Given the description of an element on the screen output the (x, y) to click on. 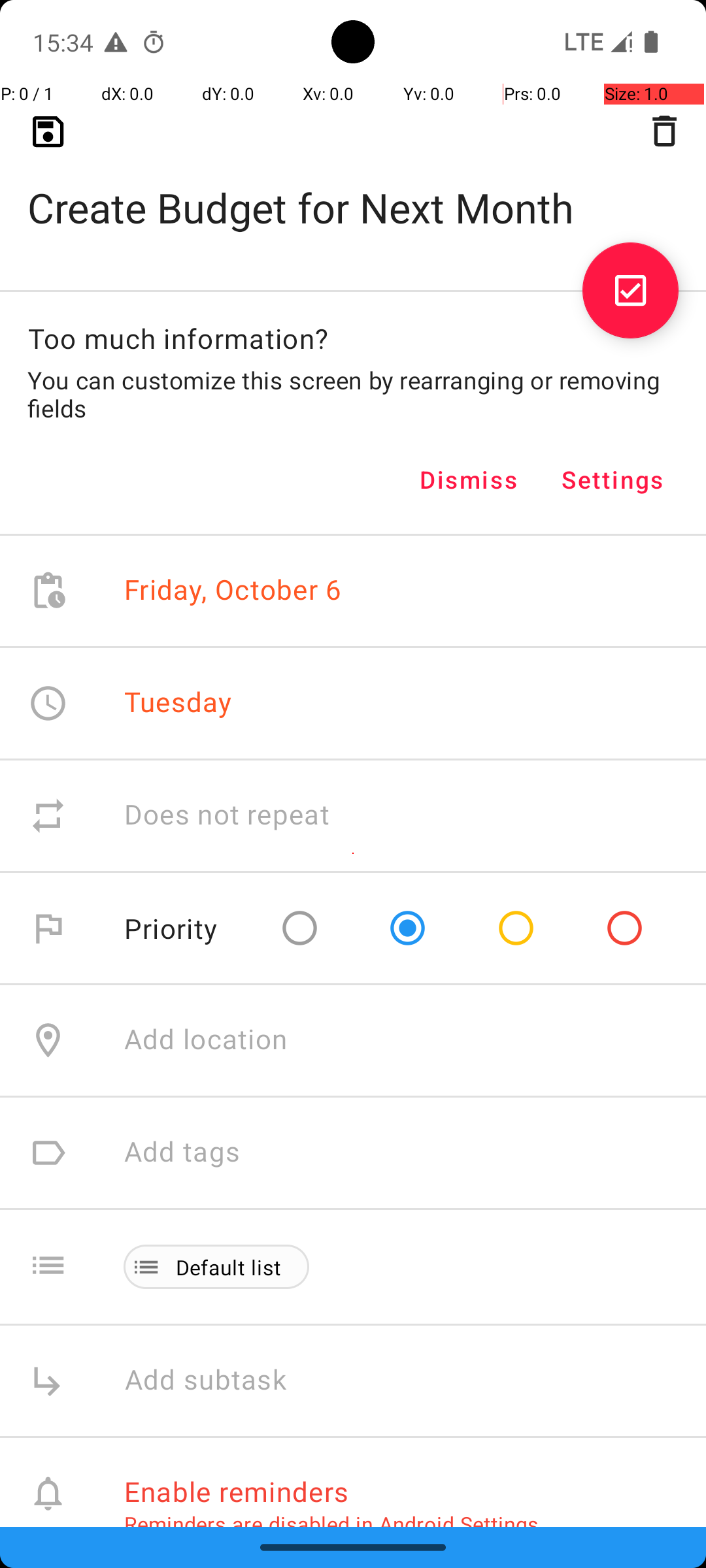
Create Budget for Next Month Element type: android.widget.EditText (353, 186)
Delete task Element type: android.widget.Button (664, 131)
Too much information? Element type: android.widget.TextView (178, 337)
You can customize this screen by rearranging or removing fields Element type: android.widget.TextView (352, 393)
Dismiss Element type: android.widget.TextView (468, 479)
Default list Element type: android.widget.TextView (228, 1267)
Friday, October 6 Element type: android.widget.TextView (232, 590)
Add location Element type: android.widget.TextView (205, 1040)
Add tags Element type: android.widget.TextView (182, 1152)
Add subtask Element type: android.widget.TextView (219, 1380)
Enable reminders Element type: android.widget.TextView (236, 1490)
Reminders are disabled in Android Settings Element type: android.widget.TextView (331, 1523)
